Given the description of an element on the screen output the (x, y) to click on. 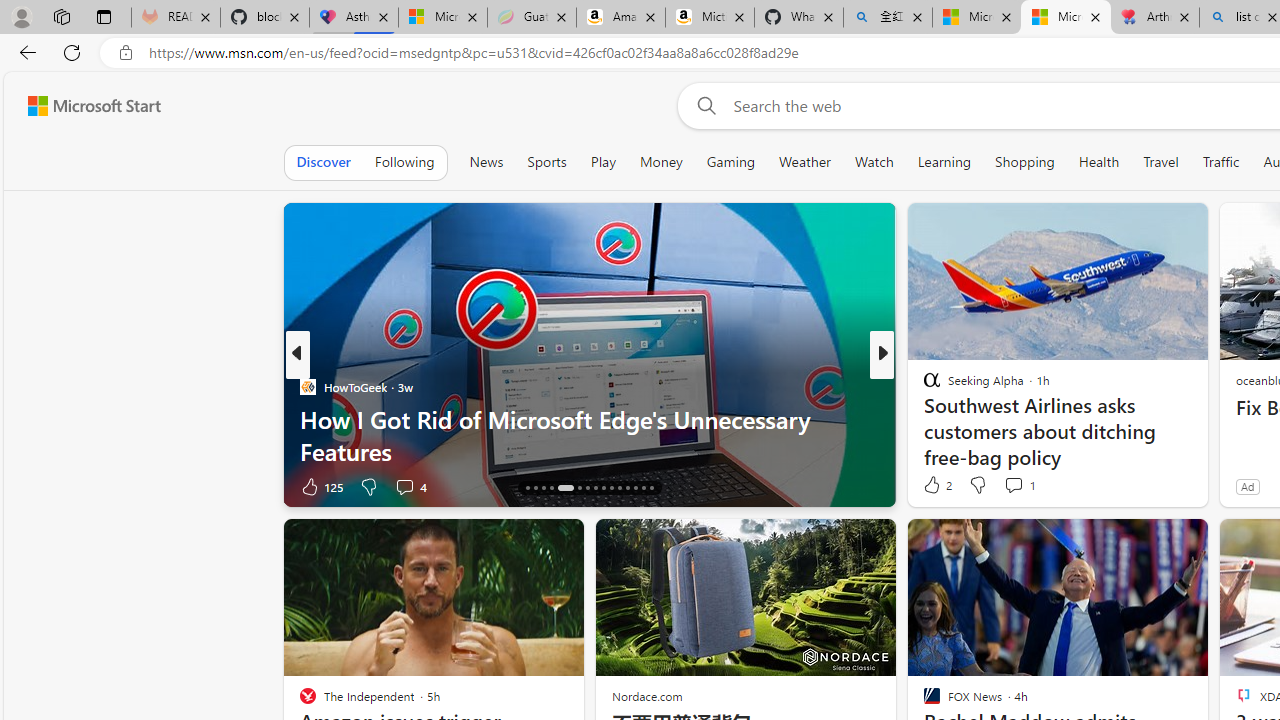
The Washington Post (923, 386)
View comments 4 Comment (404, 485)
AutomationID: tab-27 (627, 487)
AutomationID: tab-18 (542, 487)
The Independent (923, 386)
119 Like (936, 486)
AutomationID: tab-29 (642, 487)
